Given the description of an element on the screen output the (x, y) to click on. 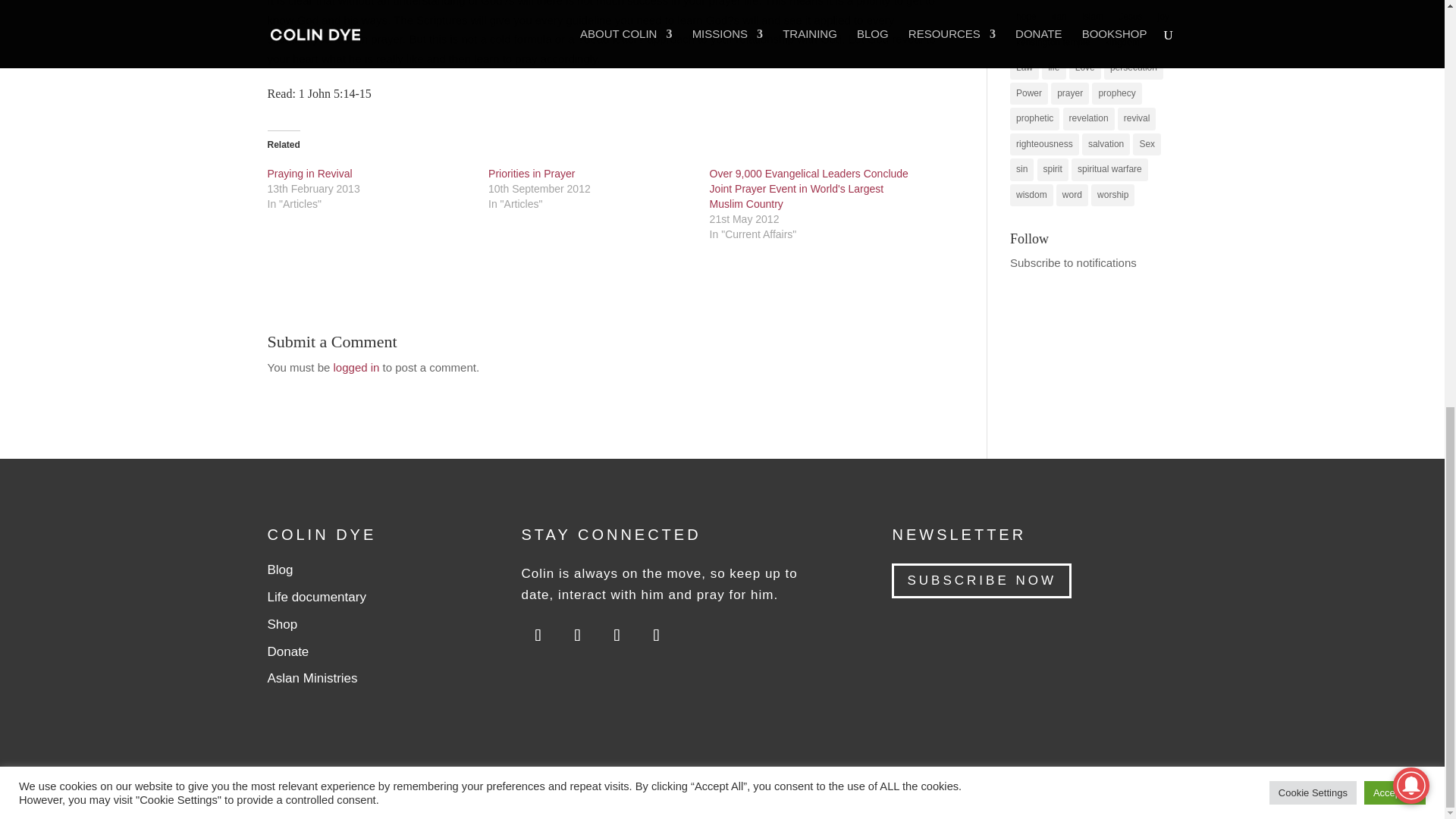
Follow on X (616, 635)
Follow on Facebook (655, 635)
Praying in Revival (309, 173)
Follow on Instagram (577, 635)
Follow on Youtube (537, 635)
Priorities in Prayer (531, 173)
